Given the description of an element on the screen output the (x, y) to click on. 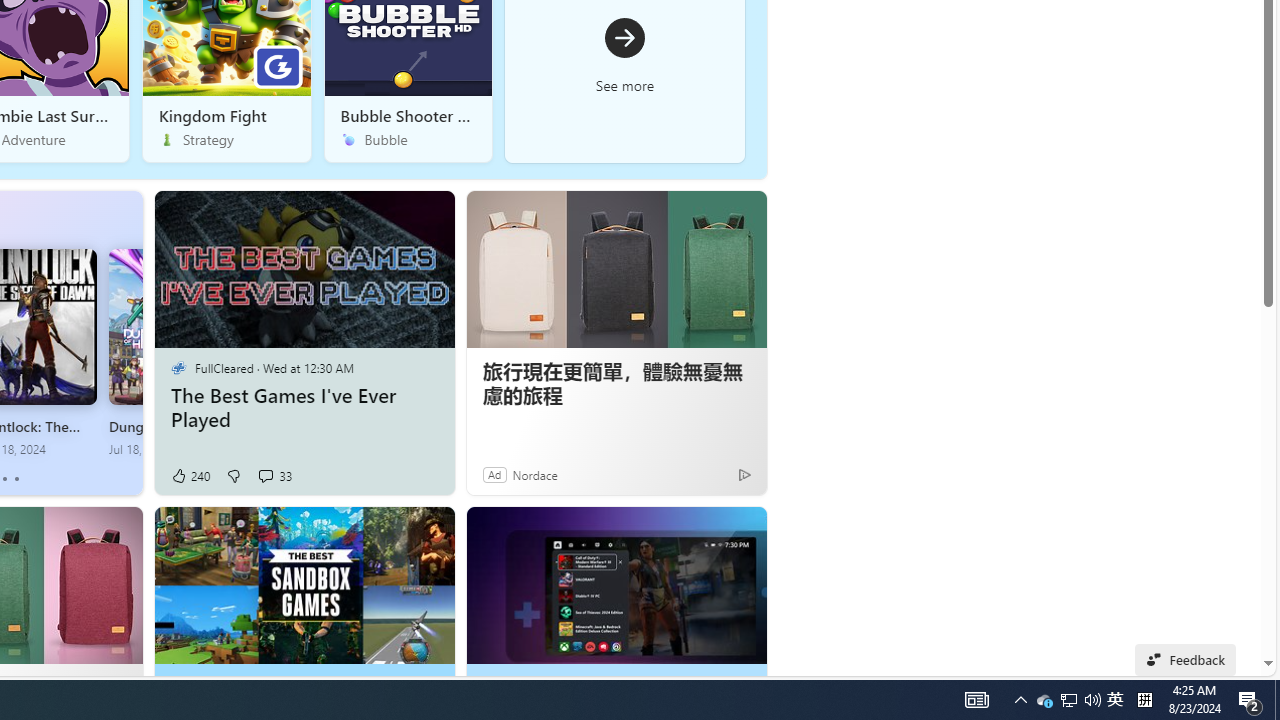
FullCleared (178, 367)
Dungeons Of Hinterberg Jul 18, 2024 (164, 353)
